Given the description of an element on the screen output the (x, y) to click on. 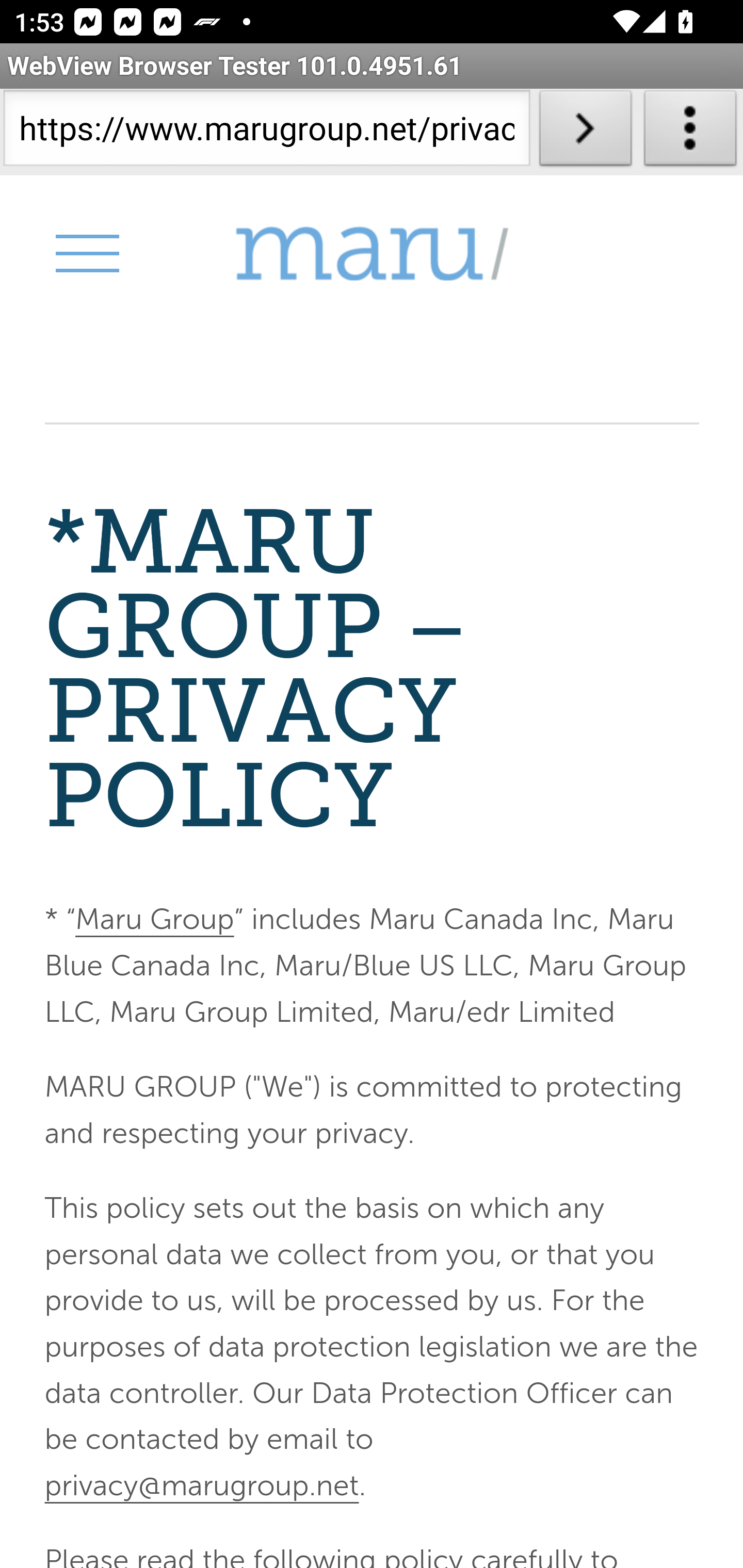
https://www.marugroup.net/privacy-policy (266, 132)
Load URL (585, 132)
About WebView (690, 132)
Open Menu (86, 252)
Maru Group (371, 253)
Maru Group (153, 920)
privacy@marugroup.net (200, 1484)
